Given the description of an element on the screen output the (x, y) to click on. 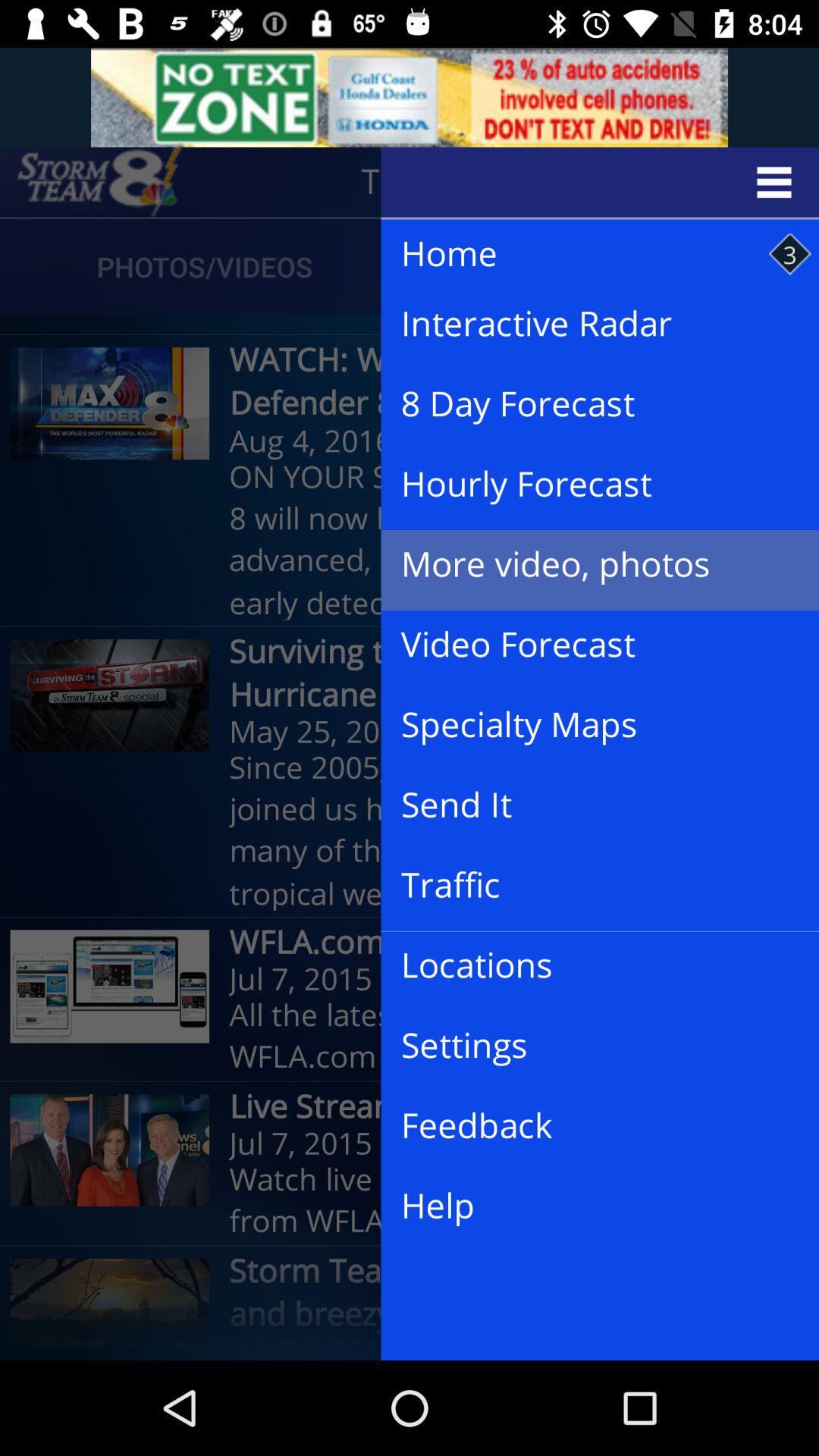
go to the main page (99, 182)
